Given the description of an element on the screen output the (x, y) to click on. 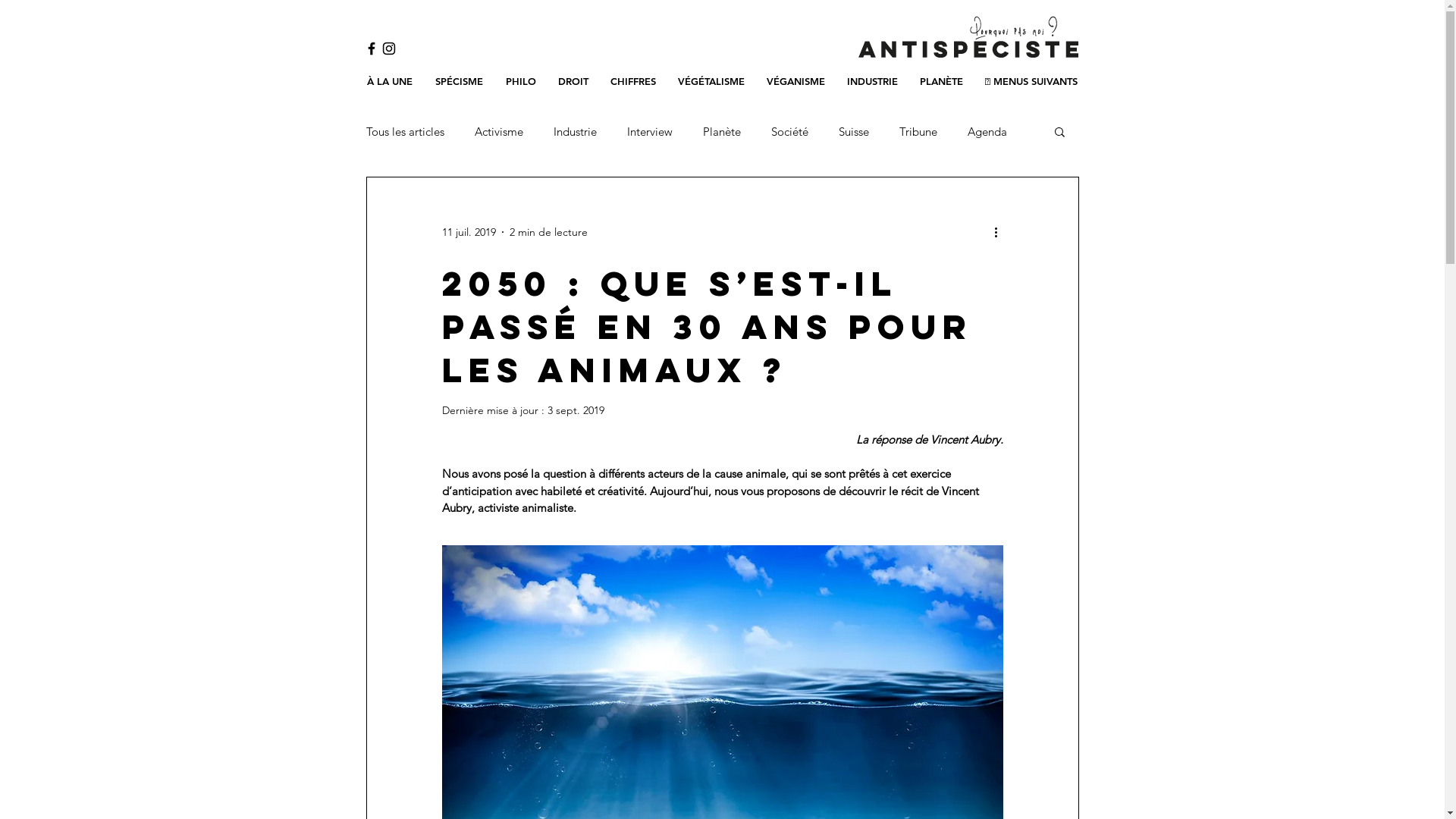
Tribune Element type: text (918, 131)
Interview Element type: text (648, 131)
Site Search Element type: hover (604, 50)
Suisse Element type: text (853, 131)
Tous les articles Element type: text (404, 131)
INDUSTRIE Element type: text (871, 81)
DROIT Element type: text (573, 81)
Agenda Element type: text (987, 131)
Activisme Element type: text (498, 131)
CHIFFRES Element type: text (632, 81)
PHILO Element type: text (520, 81)
Industrie Element type: text (574, 131)
